Given the description of an element on the screen output the (x, y) to click on. 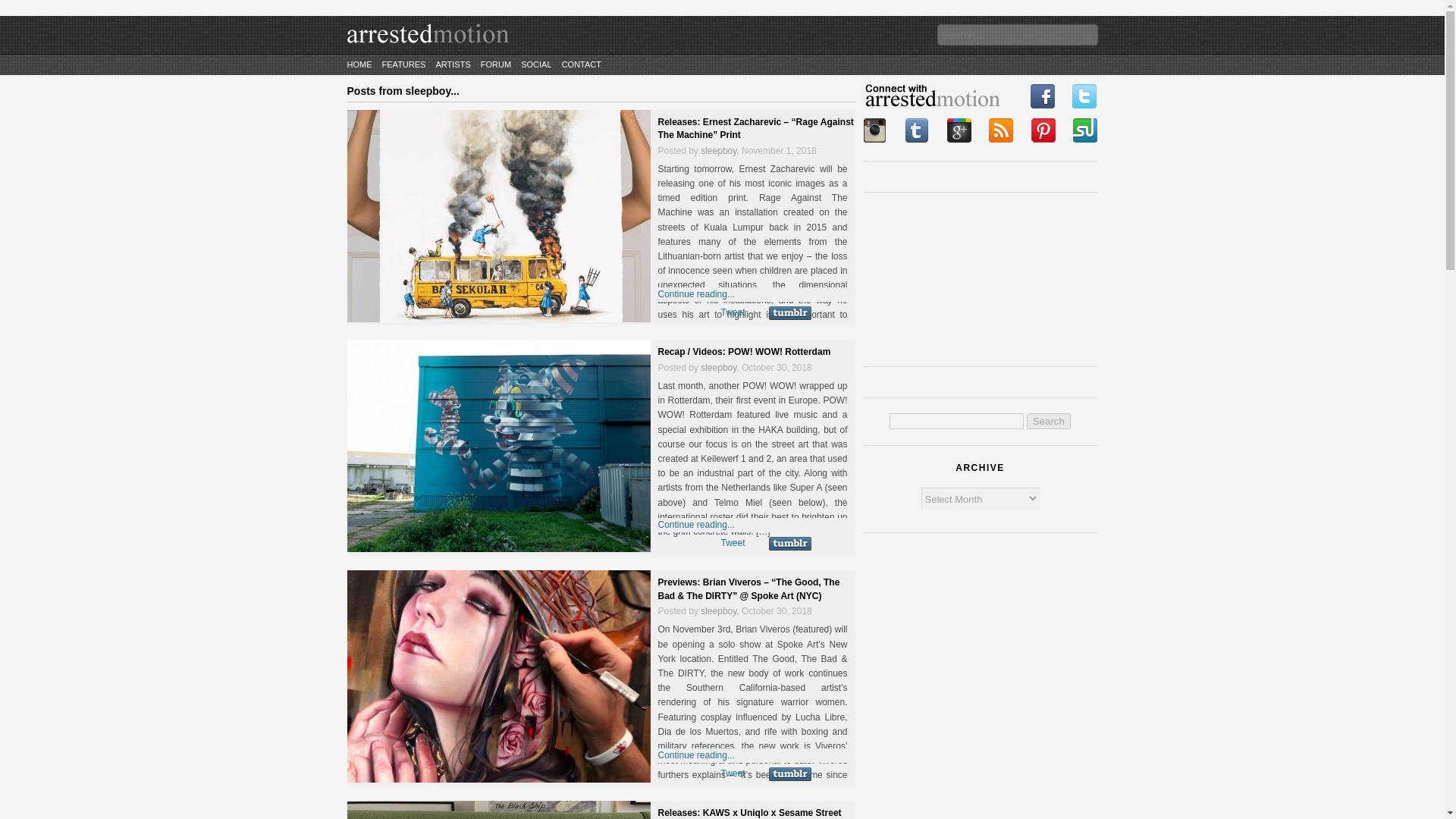
Continue reading... (696, 755)
Continue reading... (696, 294)
SOCIAL (536, 63)
ARTISTS (452, 63)
sleepboy (718, 367)
FORUM (495, 63)
HOME (359, 63)
Search (1048, 421)
Tweet (732, 773)
FEATURES (403, 63)
